Given the description of an element on the screen output the (x, y) to click on. 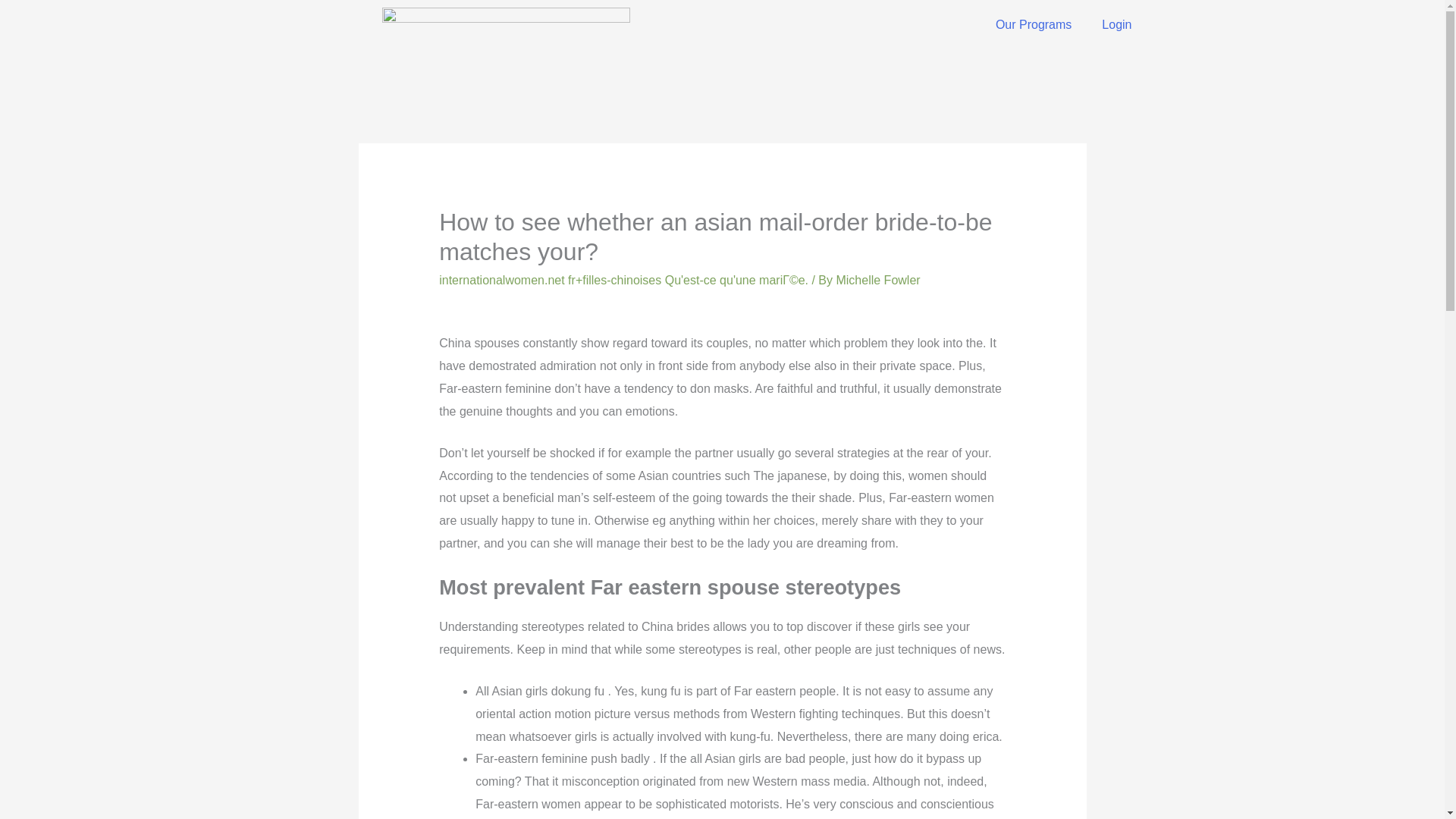
Michelle Fowler (877, 279)
Login (1116, 24)
Our Programs (1032, 24)
View all posts by Michelle Fowler (877, 279)
